Given the description of an element on the screen output the (x, y) to click on. 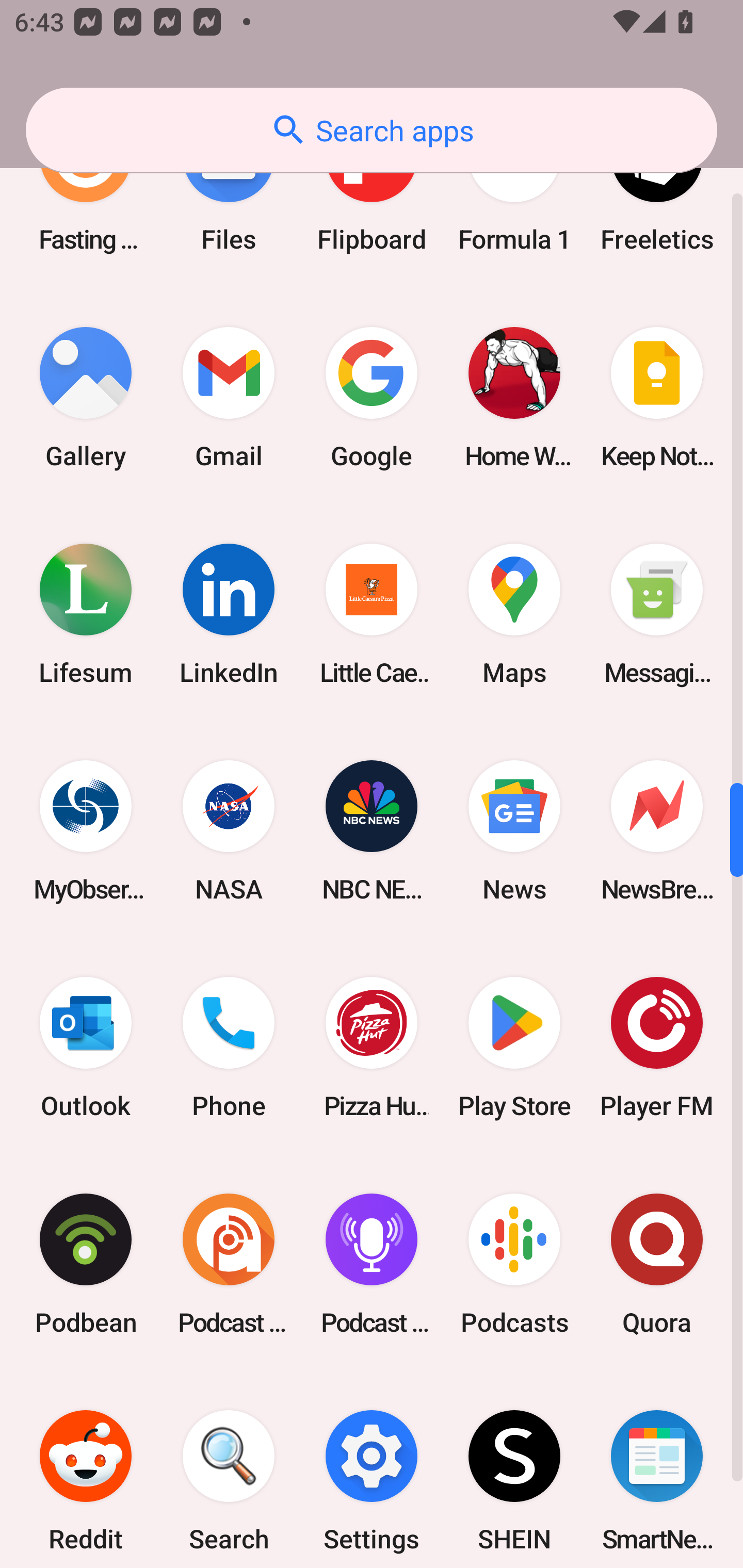
  Search apps (371, 130)
Gallery (85, 398)
Gmail (228, 398)
Google (371, 398)
Home Workout (514, 398)
Keep Notes (656, 398)
Lifesum (85, 614)
LinkedIn (228, 614)
Little Caesars Pizza (371, 614)
Maps (514, 614)
Messaging (656, 614)
MyObservatory (85, 830)
NASA (228, 830)
NBC NEWS (371, 830)
News (514, 830)
NewsBreak (656, 830)
Outlook (85, 1047)
Phone (228, 1047)
Pizza Hut HK & Macau (371, 1047)
Play Store (514, 1047)
Player FM (656, 1047)
Podbean (85, 1263)
Podcast Addict (228, 1263)
Podcast Player (371, 1263)
Podcasts (514, 1263)
Quora (656, 1263)
Reddit (85, 1470)
Search (228, 1470)
Settings (371, 1470)
SHEIN (514, 1470)
SmartNews (656, 1470)
